Given the description of an element on the screen output the (x, y) to click on. 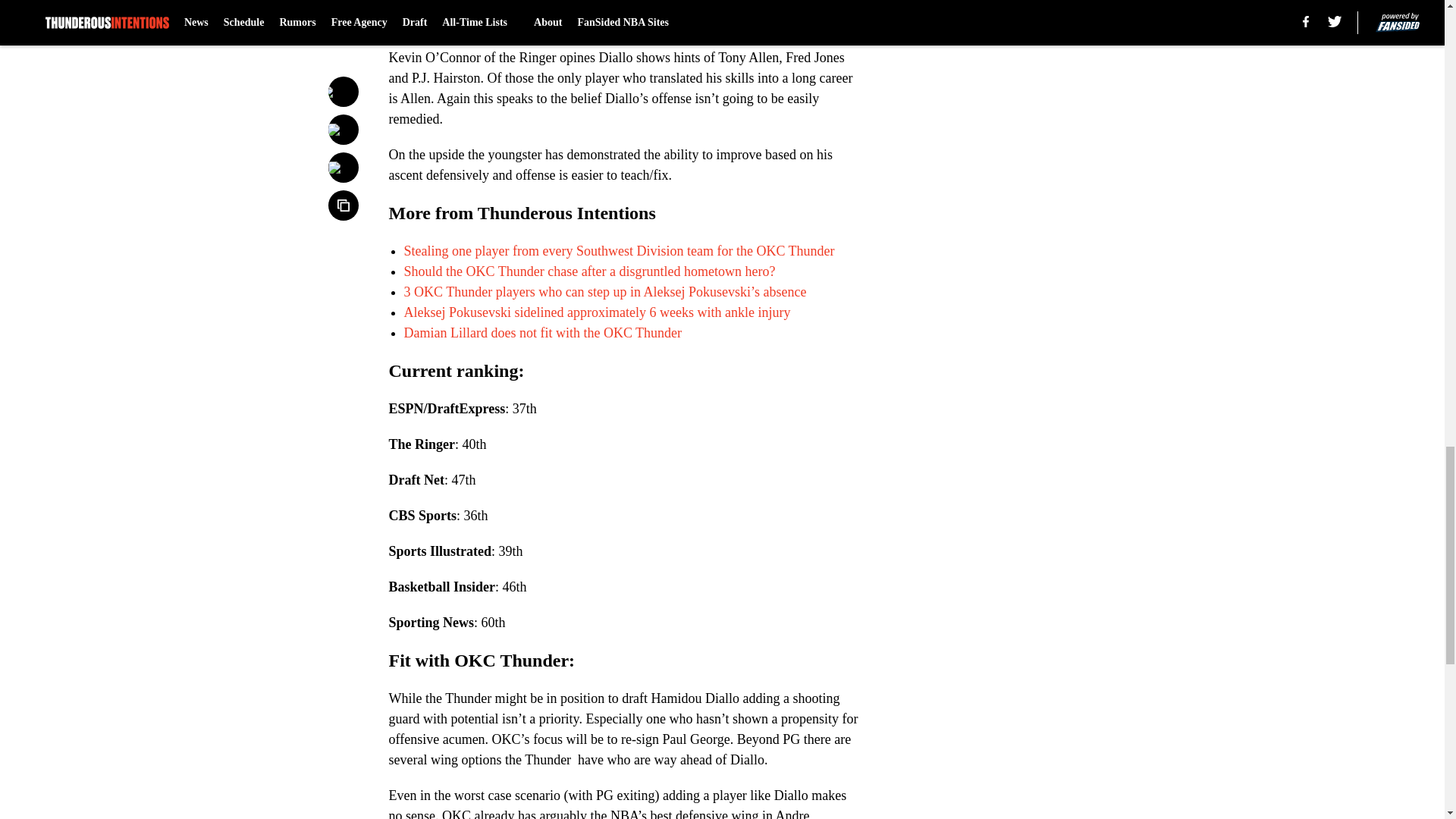
Damian Lillard does not fit with the OKC Thunder (542, 332)
